Given the description of an element on the screen output the (x, y) to click on. 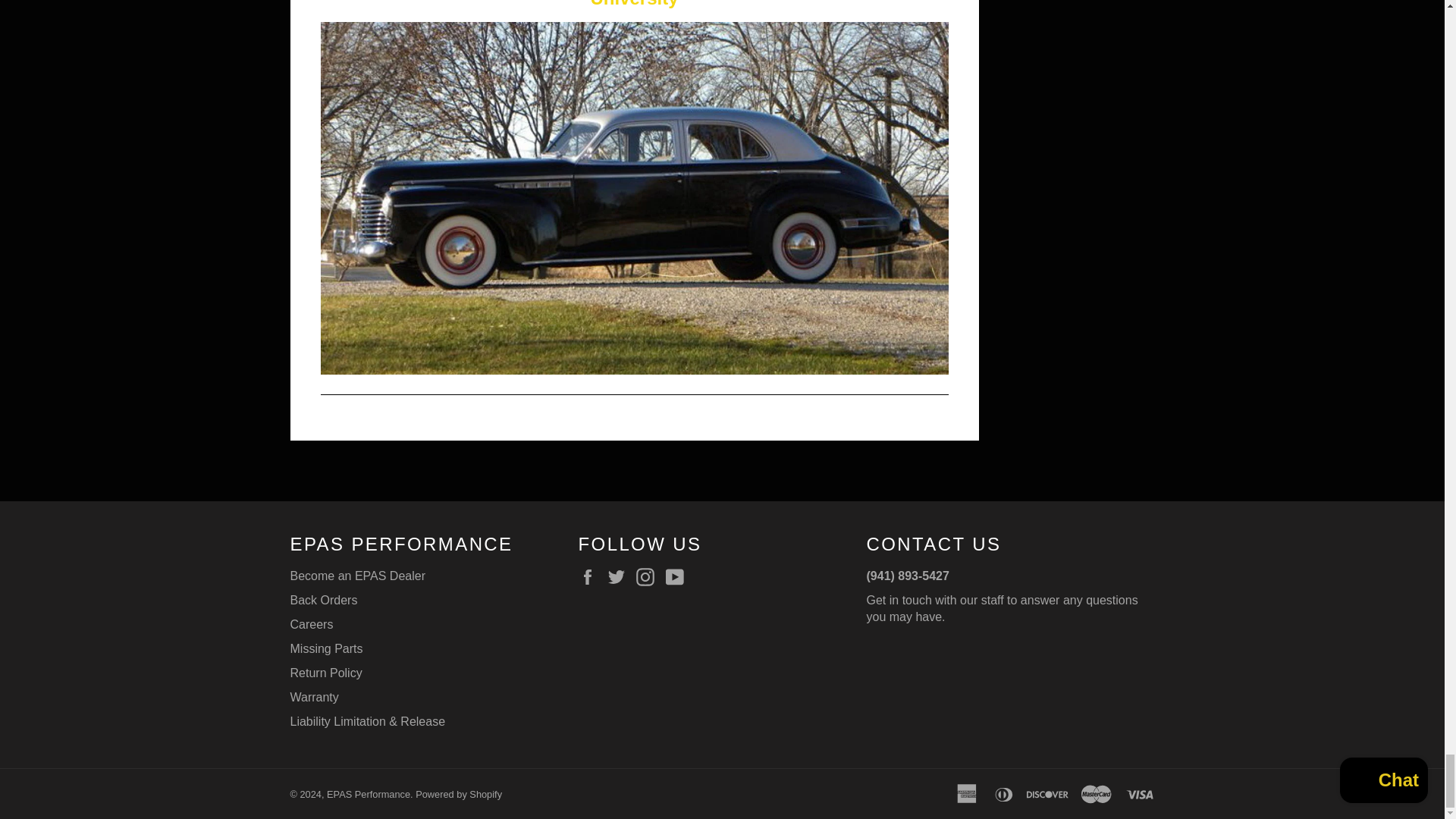
EPAS Performance on Facebook (591, 577)
Contact Us (1001, 608)
EPAS Performance on Instagram (649, 577)
EPAS Performance on Twitter (620, 577)
EPAS Performance on YouTube (678, 577)
